Given the description of an element on the screen output the (x, y) to click on. 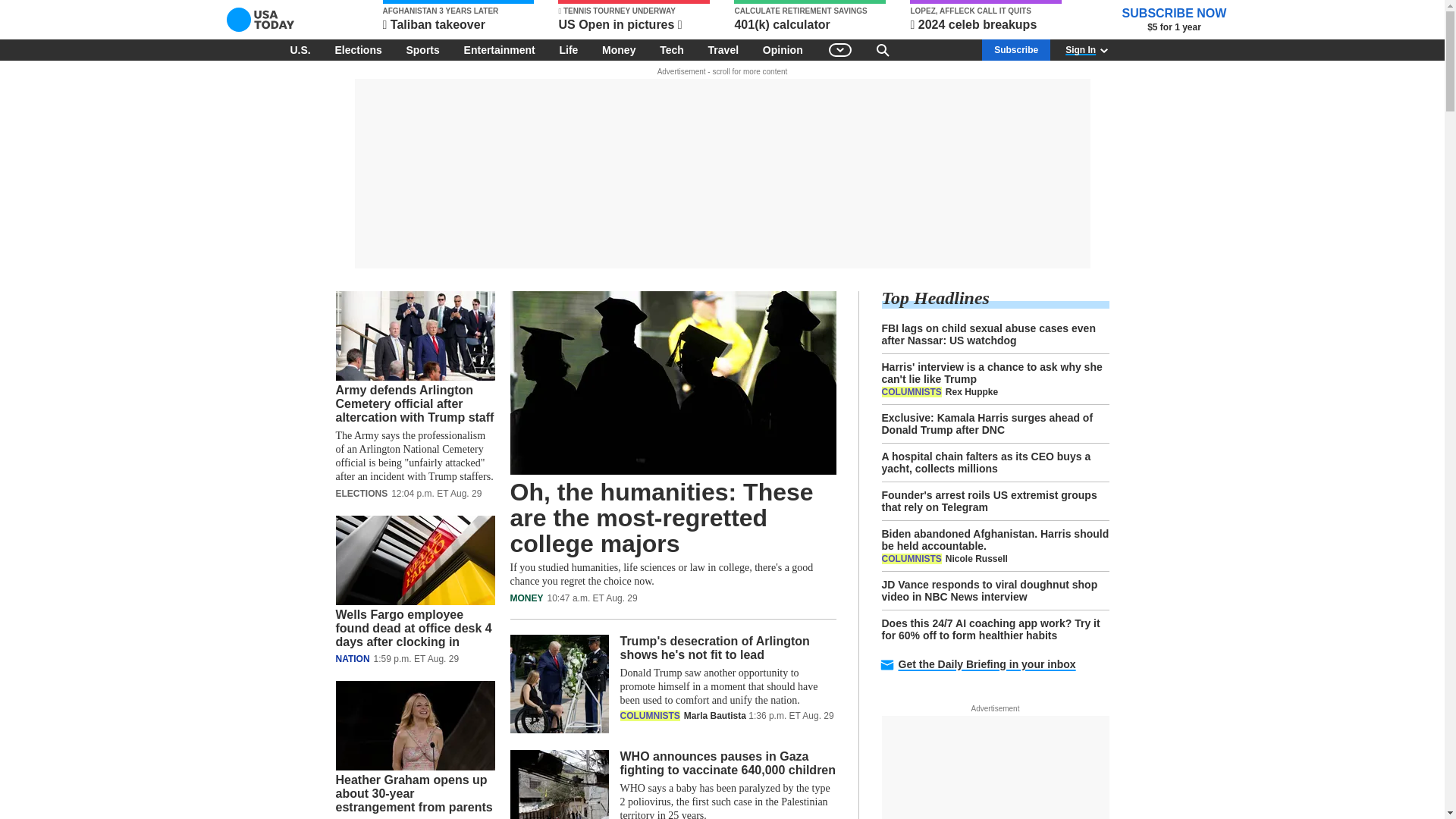
Elections (357, 49)
Entertainment (500, 49)
Sports (421, 49)
Tech (671, 49)
U.S. (299, 49)
Search (882, 49)
Money (618, 49)
Life (568, 49)
Travel (722, 49)
Opinion (782, 49)
